Given the description of an element on the screen output the (x, y) to click on. 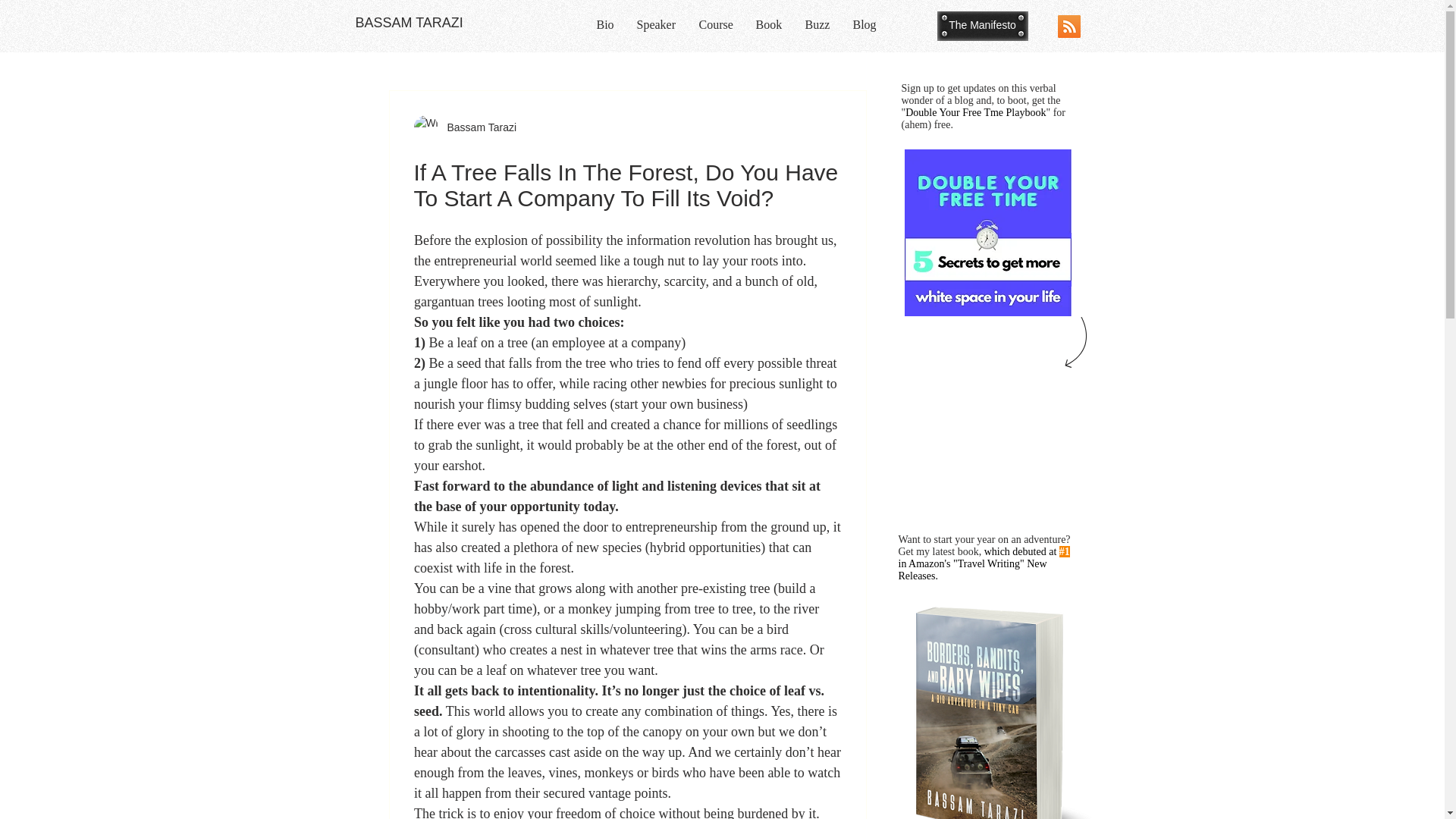
Course (715, 24)
Buzz (817, 24)
The Manifesto (982, 25)
Speaker (655, 24)
BASSAM TARAZI (409, 22)
Blog (864, 24)
RSS Feed (1068, 26)
Bassam Tarazi (477, 127)
Book (768, 24)
Bio (605, 24)
